Given the description of an element on the screen output the (x, y) to click on. 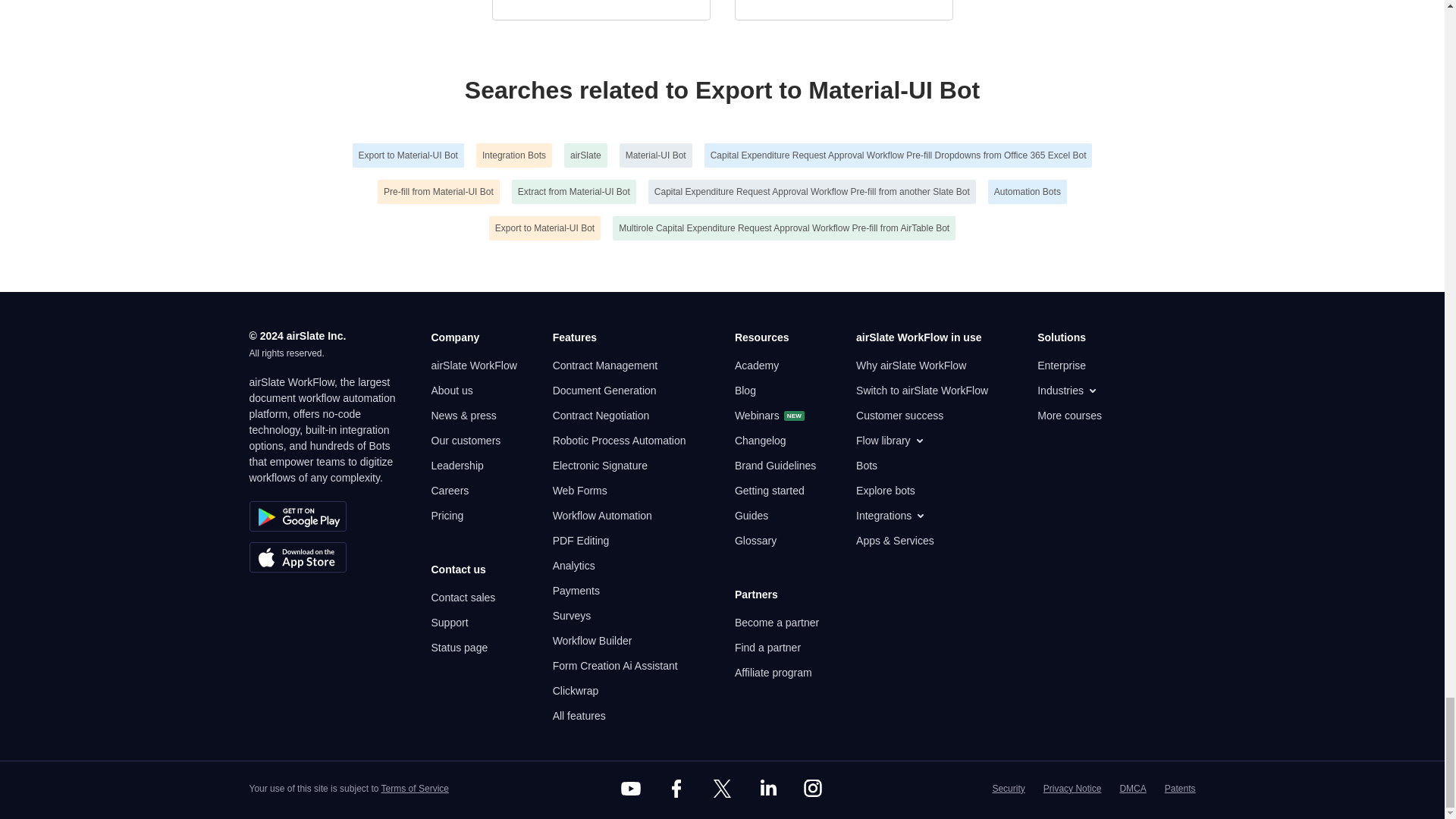
LinkedIn (767, 788)
YouTube (630, 788)
Twitter (721, 788)
Facebook (676, 788)
Instagram (812, 788)
